Given the description of an element on the screen output the (x, y) to click on. 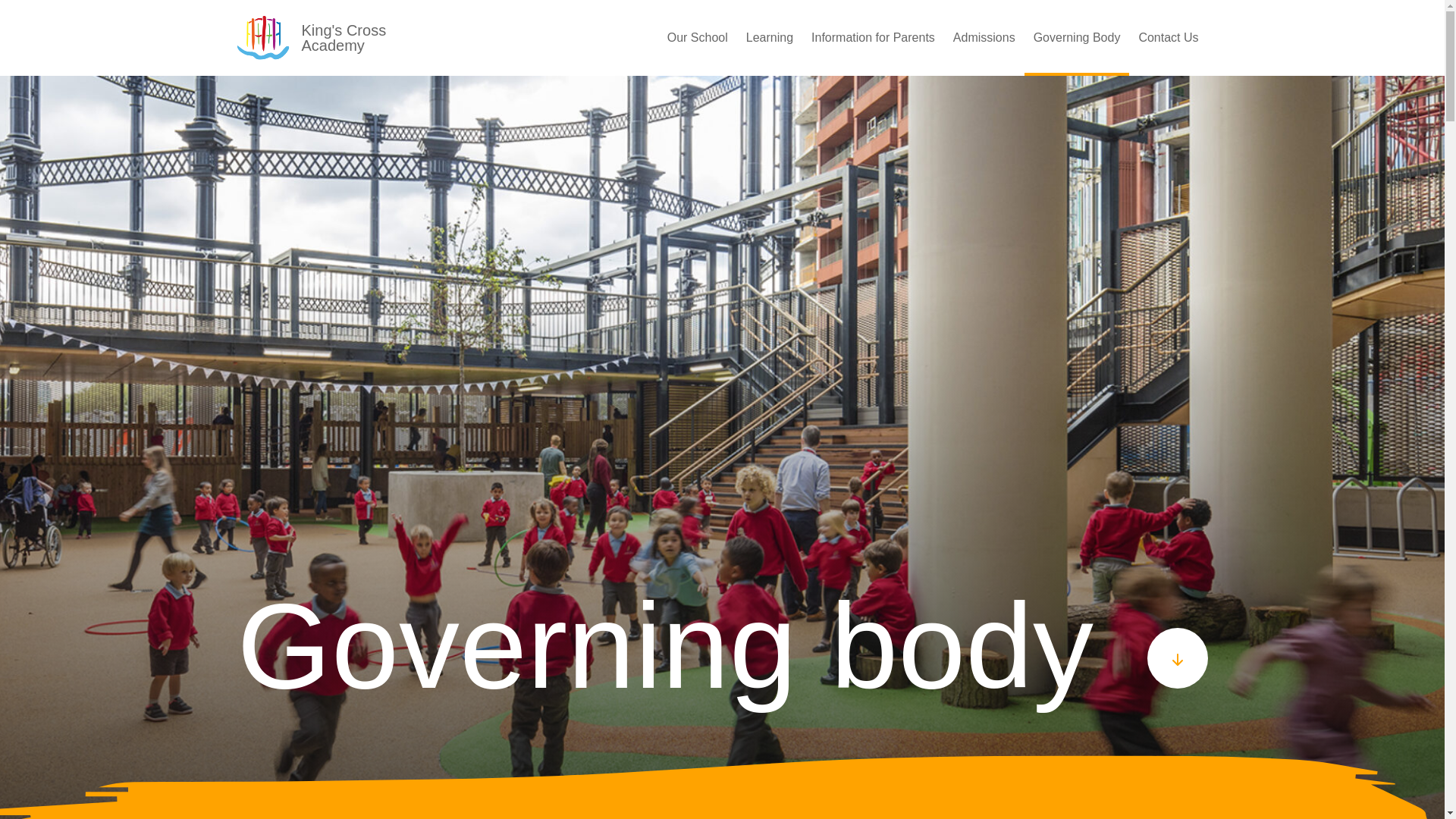
Our School (697, 37)
Information for Parents (872, 37)
Learning (769, 37)
Governing Body (1077, 37)
Admissions (984, 37)
King's Cross Academy (347, 37)
Contact Us (1168, 37)
